Given the description of an element on the screen output the (x, y) to click on. 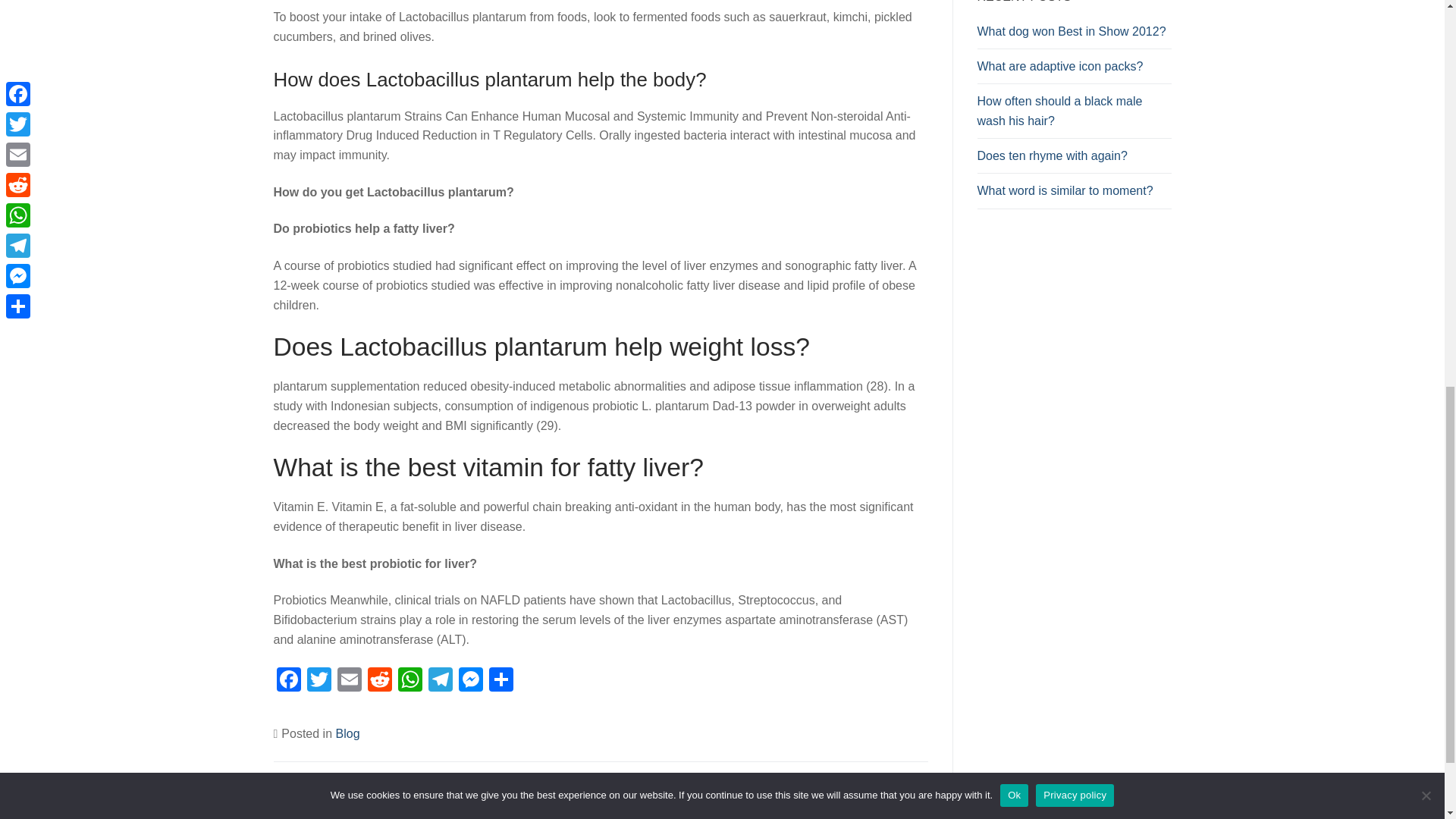
WhatsApp (409, 681)
Messenger (469, 681)
Messenger (469, 681)
Facebook (287, 681)
WhatsApp (409, 681)
Telegram (439, 681)
Email (348, 681)
Telegram (439, 681)
Twitter (317, 681)
